Given the description of an element on the screen output the (x, y) to click on. 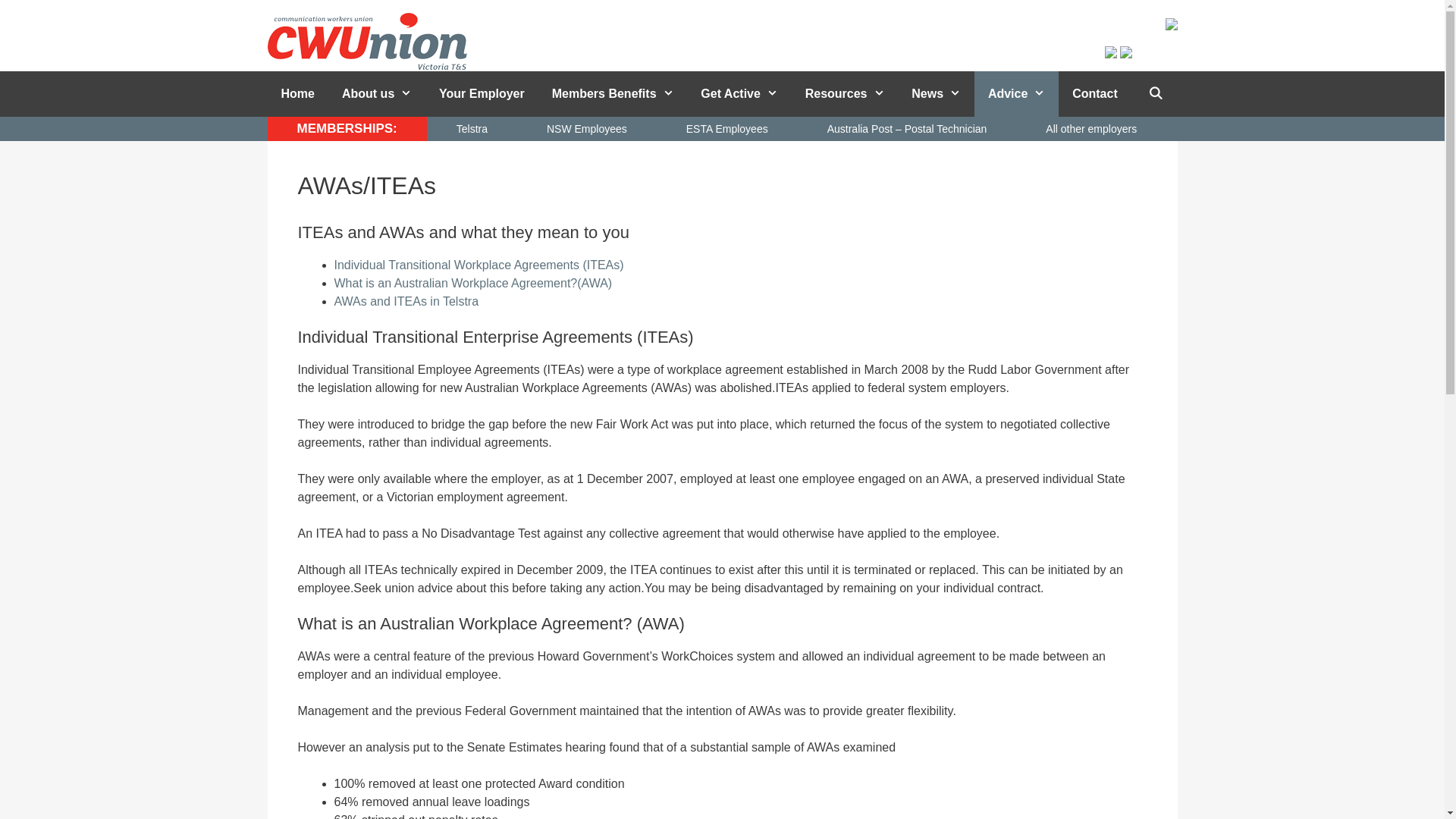
Individual Transitional Workplace Agreements (ITEAs) Element type: text (478, 264)
Advice Element type: text (1016, 93)
MEMBERSHIPS: Element type: text (346, 128)
NSW Employees Element type: text (586, 128)
Members Benefits Element type: text (612, 93)
Home Element type: text (296, 93)
AWAs and ITEAs in Telstra Element type: text (405, 300)
ESTA Employees Element type: text (726, 128)
What is an Australian Workplace Agreement?(AWA) Element type: text (472, 282)
SiteLock Element type: hover (0, 812)
About us Element type: text (376, 93)
All other employers Element type: text (1091, 128)
Get Active Element type: text (738, 93)
Your Employer Element type: text (481, 93)
Telstra Element type: text (471, 128)
Contact Element type: text (1094, 93)
News Element type: text (935, 93)
Resources Element type: text (844, 93)
